Given the description of an element on the screen output the (x, y) to click on. 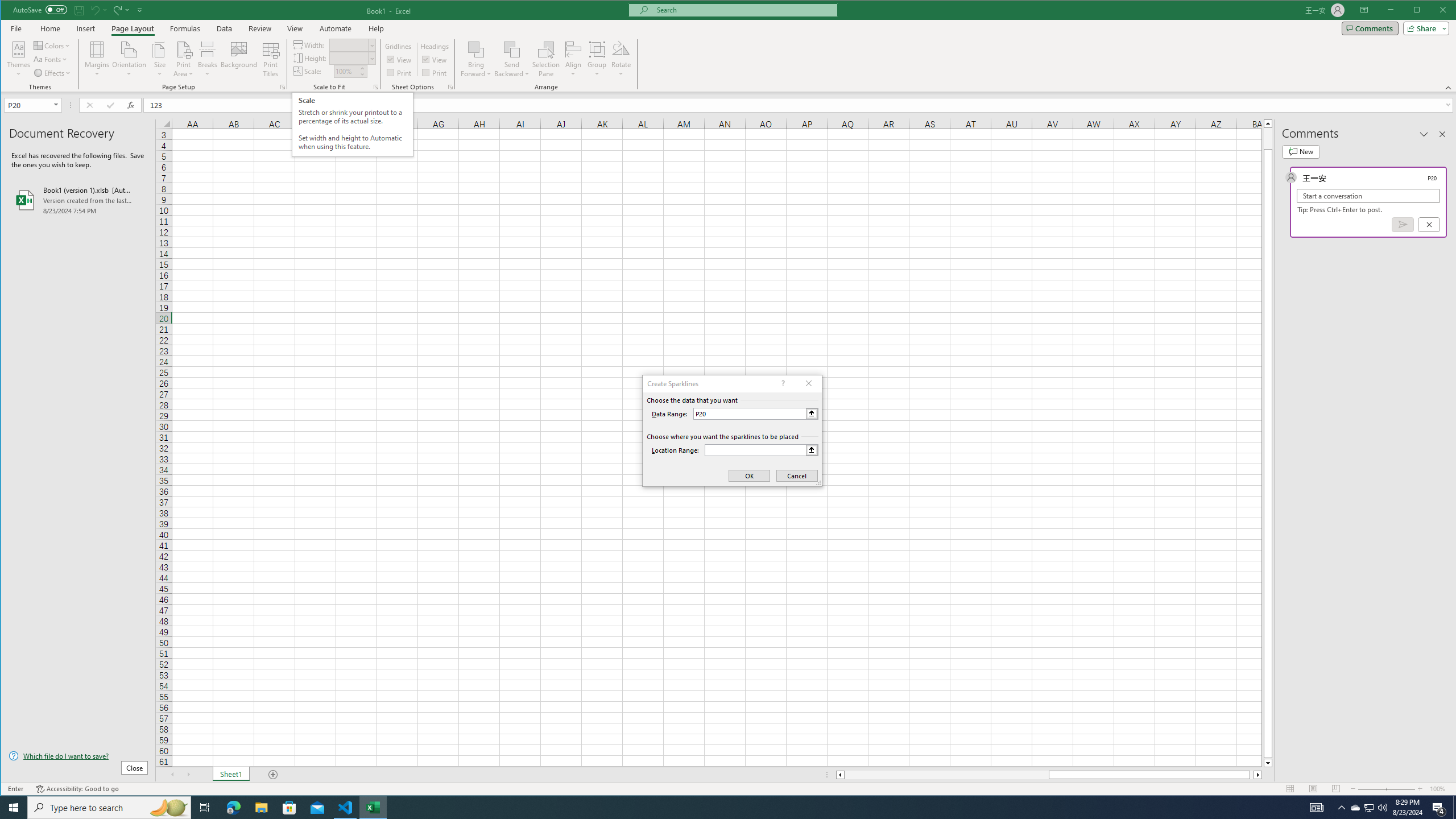
Share (1423, 27)
Selection Pane... (546, 59)
Page Break Preview (1335, 788)
Microsoft search (742, 10)
More (361, 68)
File Tab (16, 27)
Page right (1251, 774)
Zoom In (1420, 788)
Customize Quick Access Toolbar (140, 9)
Home (50, 28)
Minimize (1419, 11)
Line down (1267, 763)
Colors (53, 45)
View (434, 59)
